Given the description of an element on the screen output the (x, y) to click on. 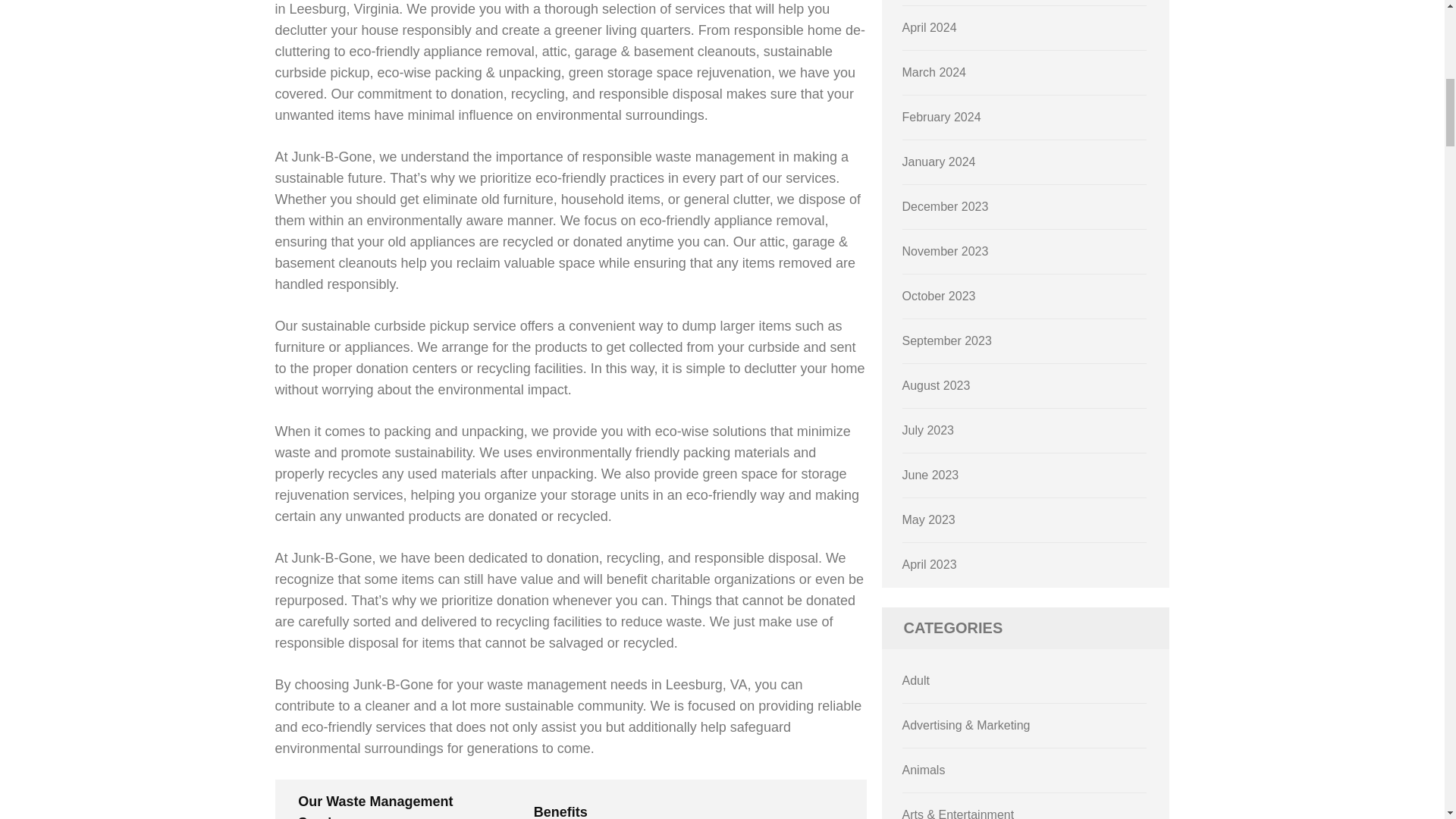
September 2023 (946, 340)
June 2023 (930, 474)
Animals (923, 769)
February 2024 (941, 116)
March 2024 (934, 72)
January 2024 (938, 161)
November 2023 (945, 250)
April 2023 (929, 563)
Adult (916, 680)
August 2023 (936, 385)
July 2023 (928, 430)
May 2023 (928, 519)
October 2023 (938, 295)
April 2024 (929, 27)
December 2023 (945, 205)
